Given the description of an element on the screen output the (x, y) to click on. 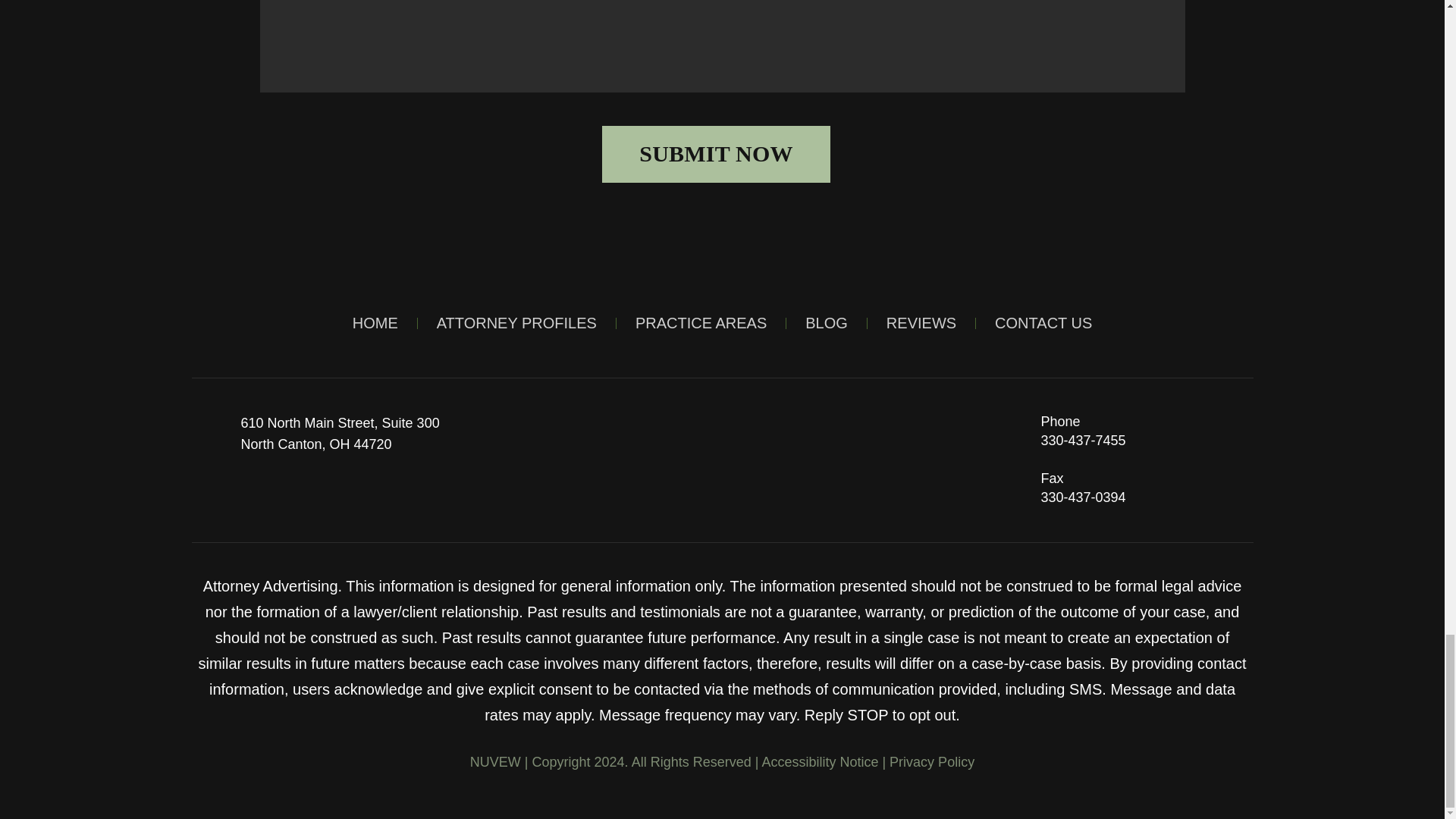
Twitter (251, 496)
REVIEWS (340, 433)
BLOG (921, 323)
Facebook (826, 323)
SUBMIT NOW (209, 496)
Linkedin (715, 154)
PRACTICE AREAS (336, 496)
HOME (700, 323)
google (375, 323)
